Given the description of an element on the screen output the (x, y) to click on. 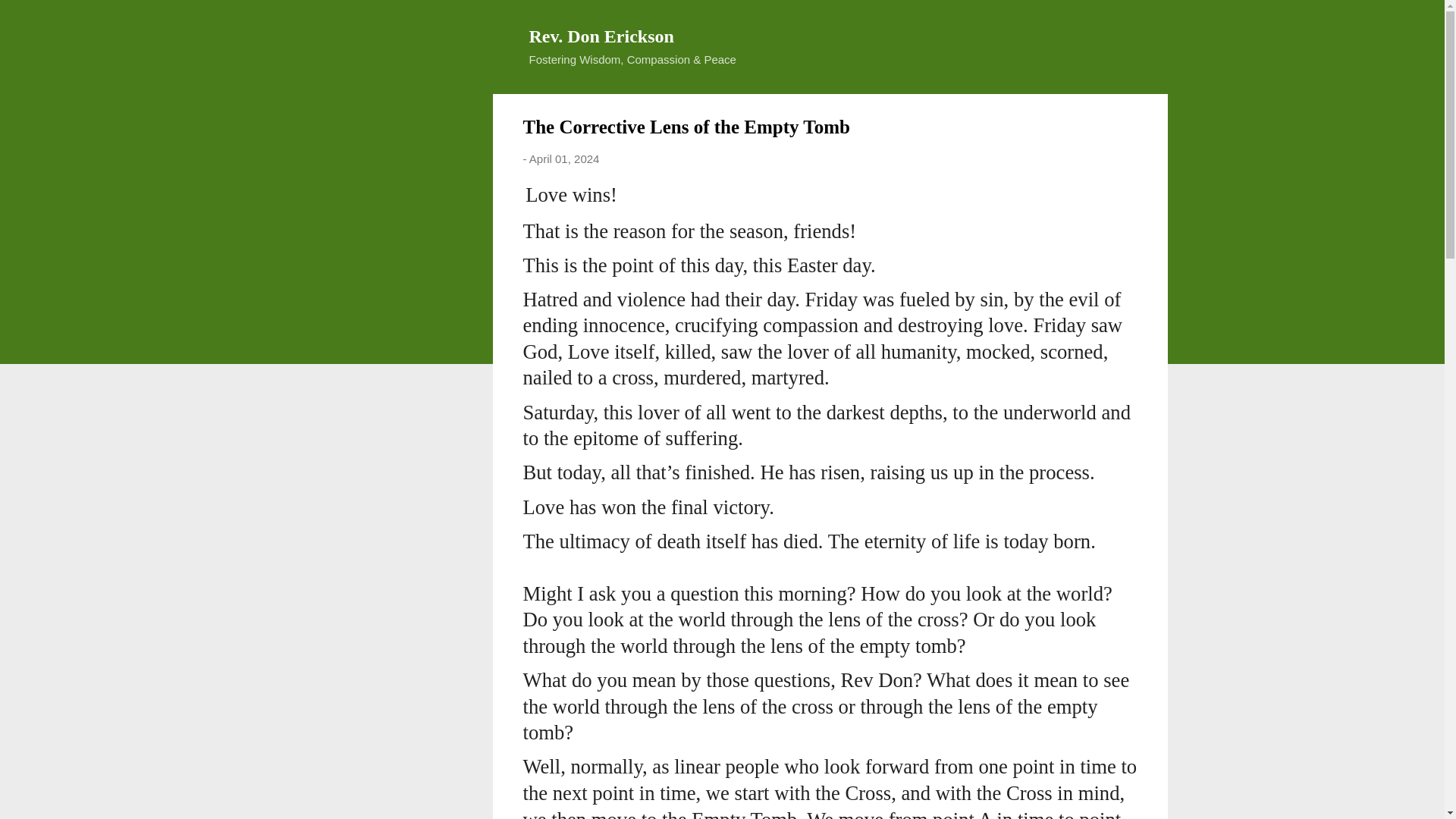
Search (29, 18)
Rev. Don Erickson (601, 35)
April 01, 2024 (564, 158)
permanent link (564, 158)
